Given the description of an element on the screen output the (x, y) to click on. 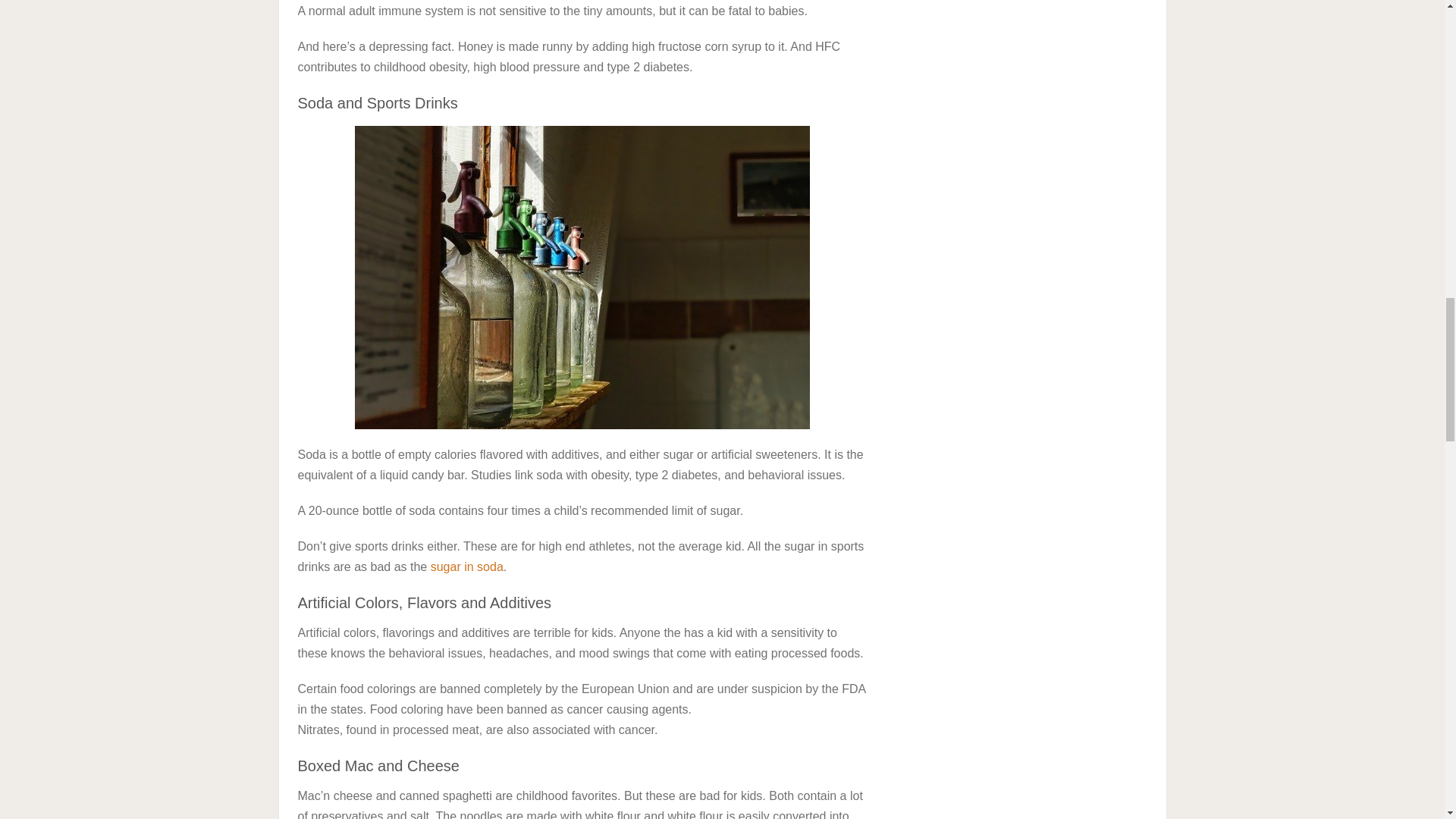
sugar in soda (466, 566)
